Given the description of an element on the screen output the (x, y) to click on. 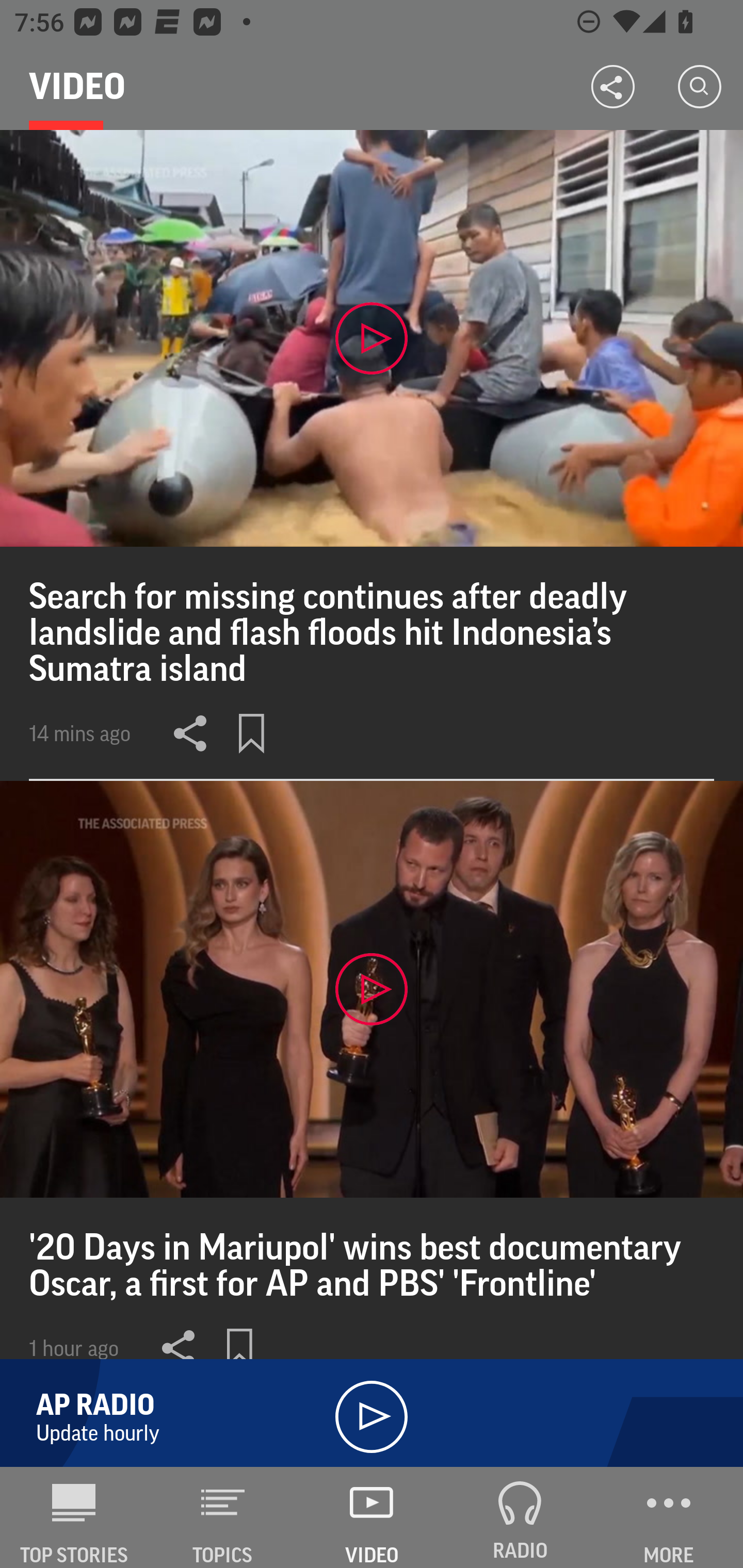
AP News TOP STORIES (74, 1517)
TOPICS (222, 1517)
VIDEO (371, 1517)
RADIO (519, 1517)
MORE (668, 1517)
